Given the description of an element on the screen output the (x, y) to click on. 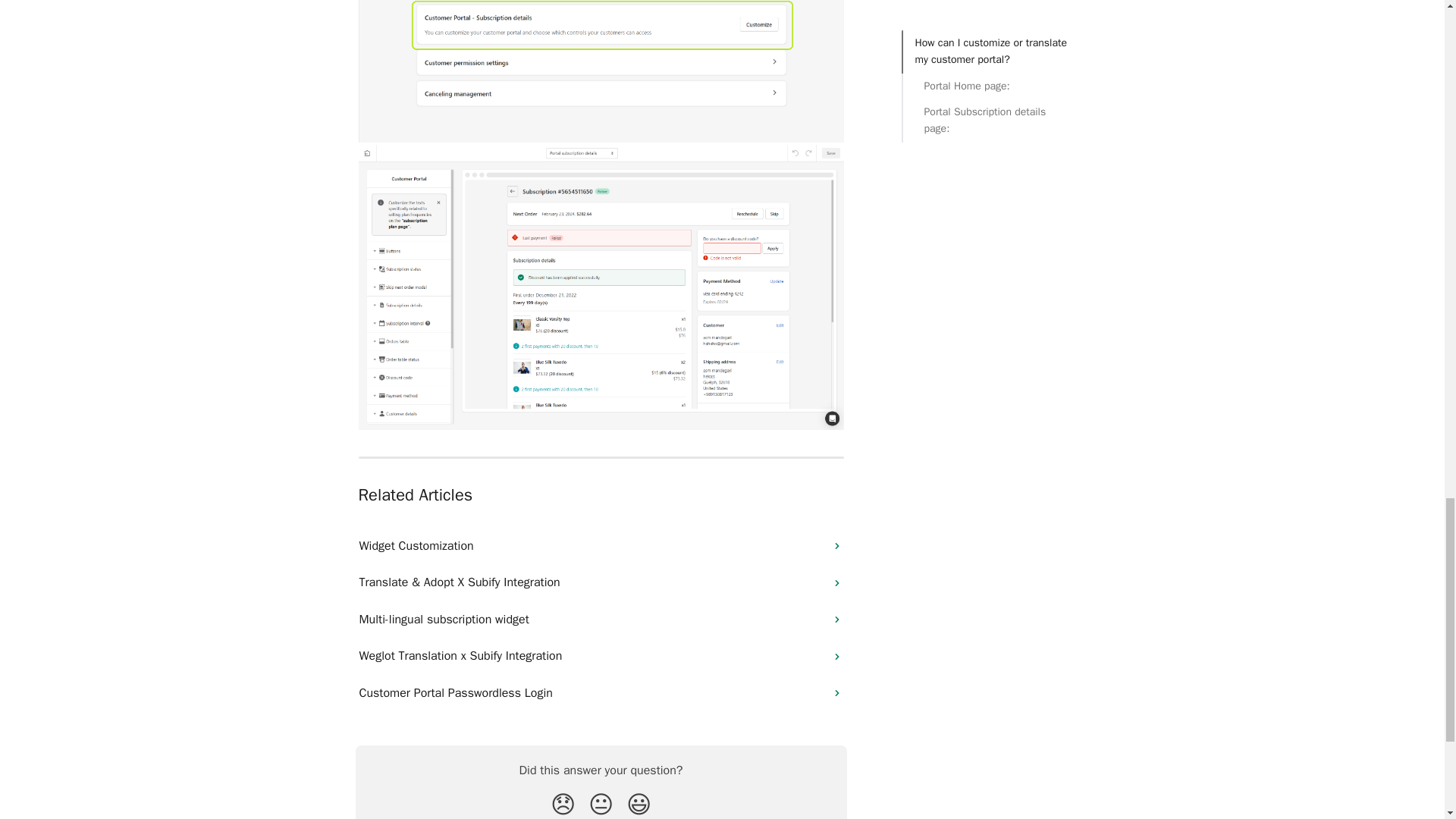
Multi-lingual subscription widget (600, 619)
Widget Customization (600, 545)
Weglot Translation x Subify Integration (600, 656)
Customer Portal Passwordless Login (600, 692)
